Given the description of an element on the screen output the (x, y) to click on. 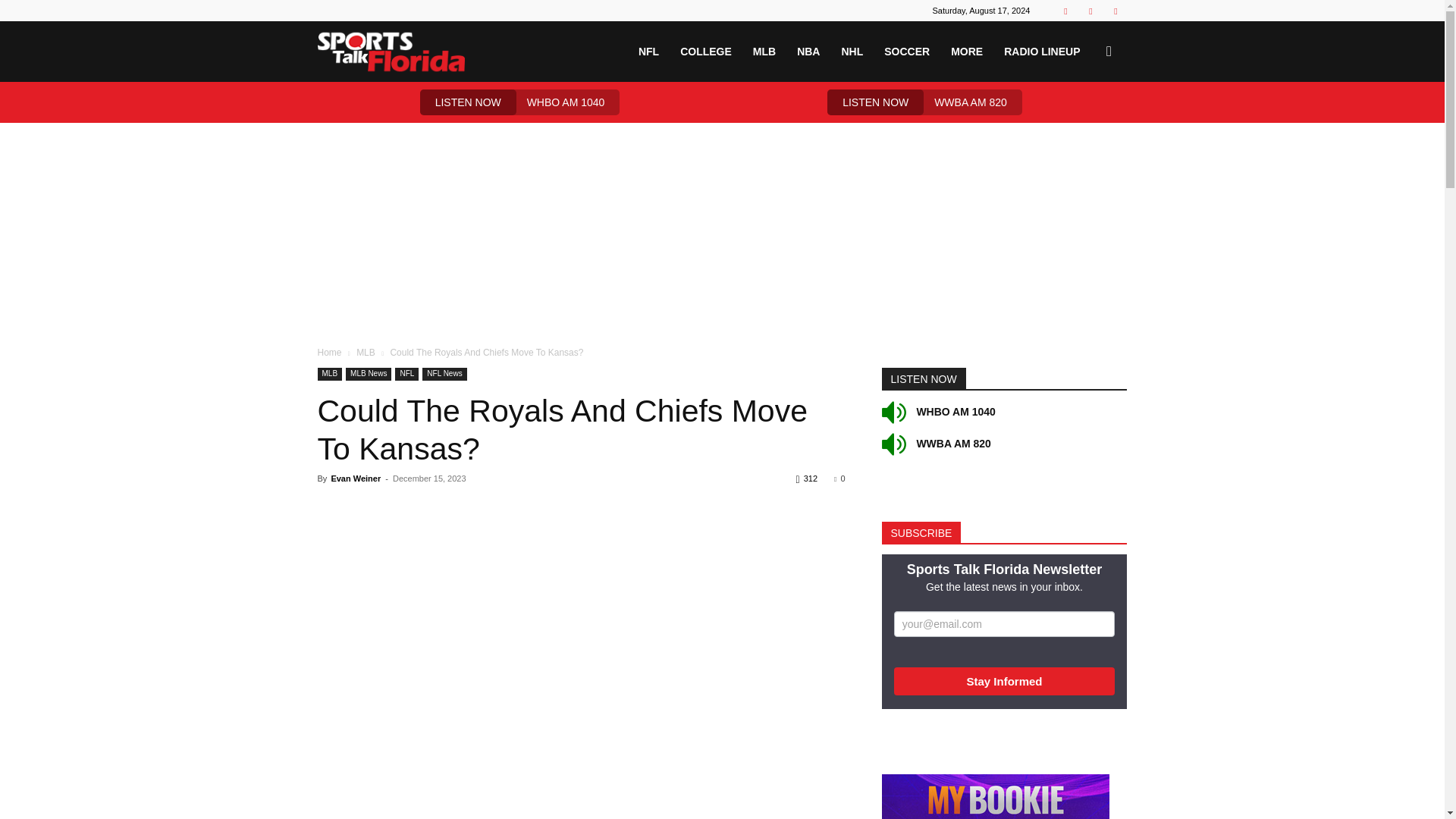
Youtube (1114, 10)
Twitter (1090, 10)
Facebook (1065, 10)
